Given the description of an element on the screen output the (x, y) to click on. 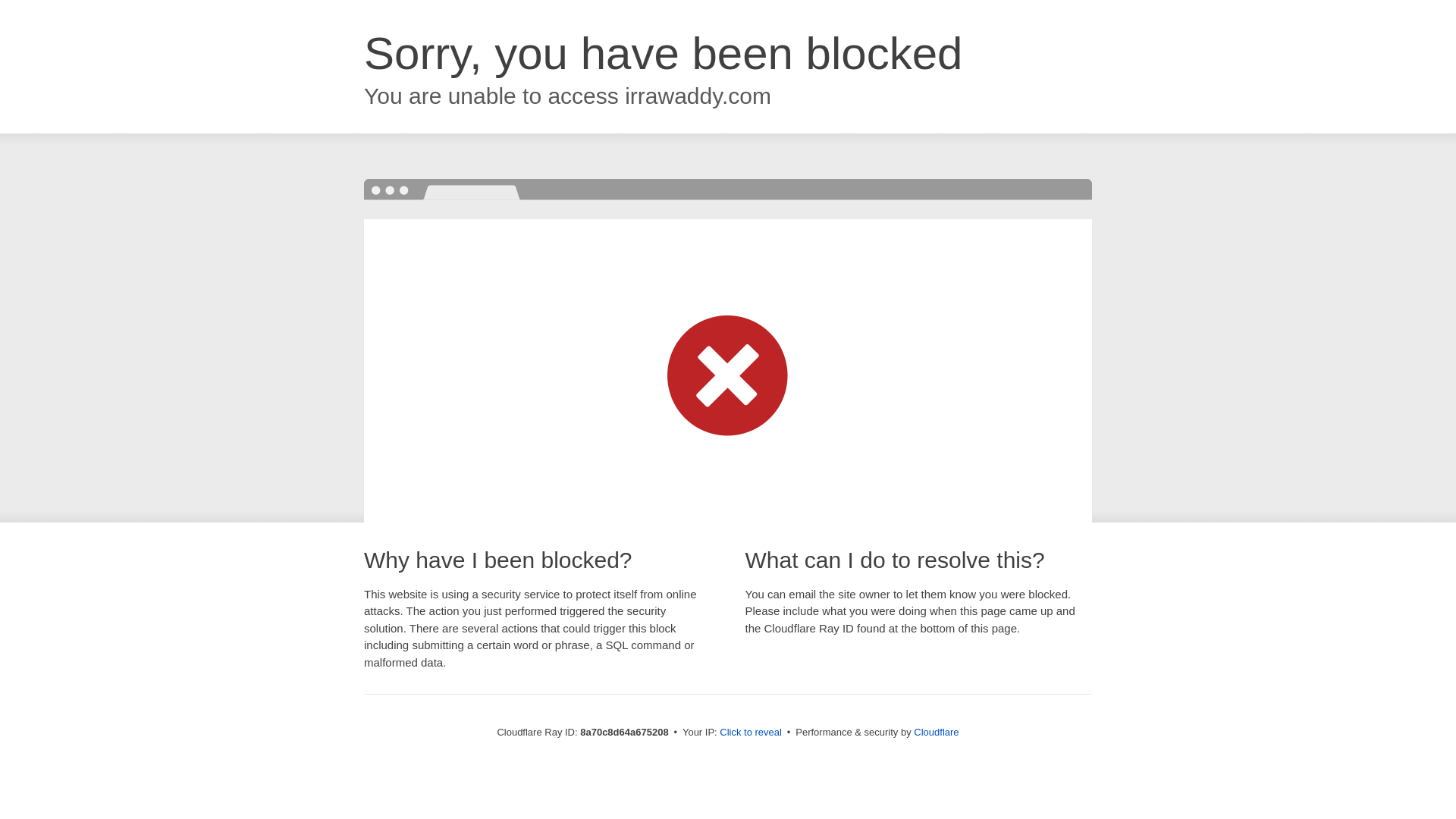
Cloudflare (936, 731)
Click to reveal (750, 732)
